Given the description of an element on the screen output the (x, y) to click on. 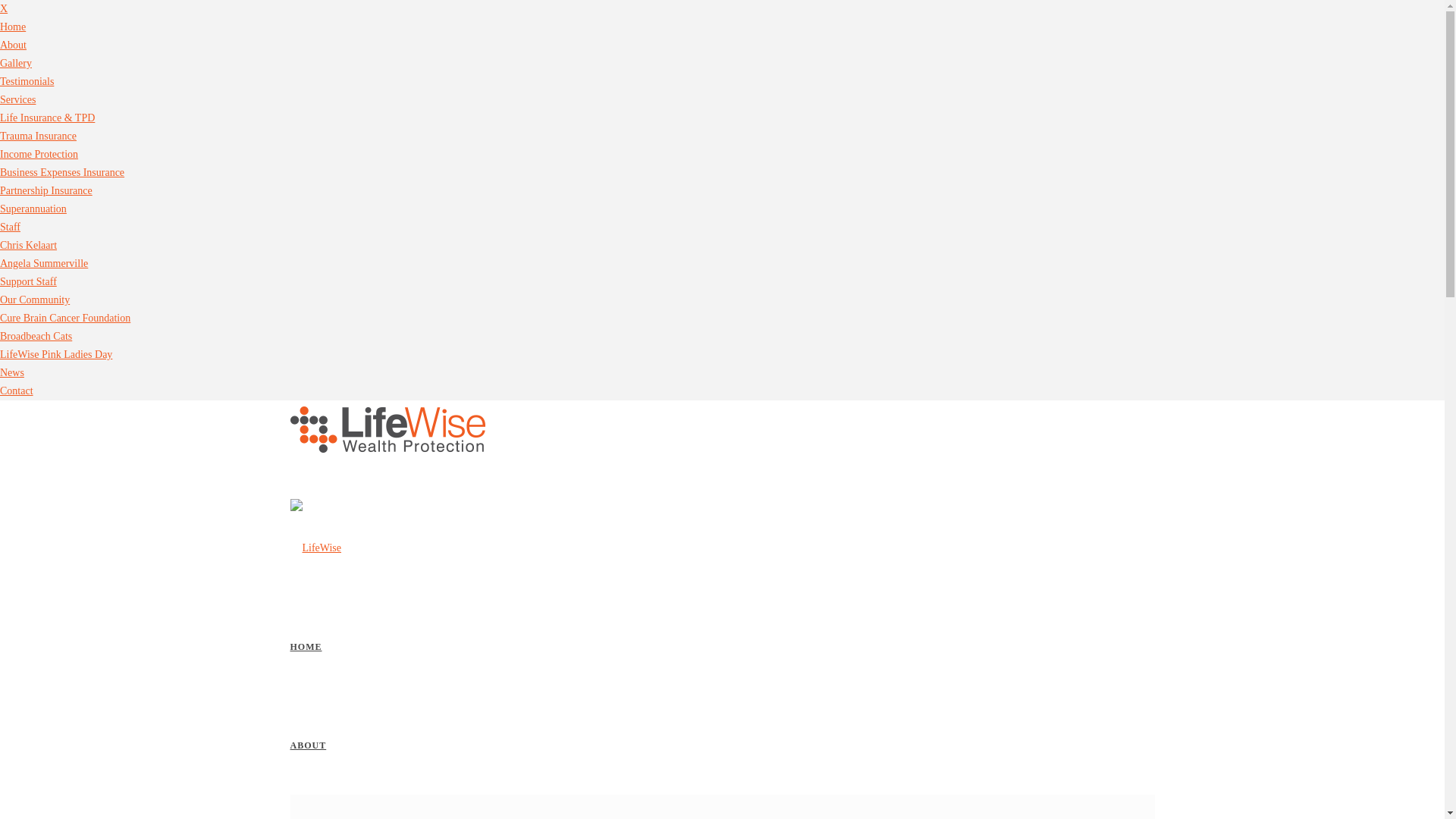
Support Staff Element type: text (28, 281)
Cure Brain Cancer Foundation Element type: text (65, 317)
HOME Element type: text (305, 646)
Trauma Insurance Element type: text (38, 135)
X Element type: text (3, 8)
Home Element type: text (12, 26)
Our Community Element type: text (34, 299)
Income Protection Element type: text (39, 154)
About Element type: text (13, 44)
Broadbeach Cats Element type: text (36, 336)
News Element type: text (12, 372)
Superannuation Element type: text (33, 208)
Staff Element type: text (10, 226)
Contact Element type: text (16, 390)
Services Element type: text (17, 99)
Angela Summerville Element type: text (43, 263)
Testimonials Element type: text (26, 81)
Chris Kelaart Element type: text (28, 245)
ABOUT Element type: text (307, 745)
Gallery Element type: text (15, 63)
LifeWise Pink Ladies Day Element type: text (56, 354)
Life Insurance & TPD Element type: text (47, 117)
Business Expenses Insurance Element type: text (62, 172)
Partnership Insurance Element type: text (46, 190)
